Given the description of an element on the screen output the (x, y) to click on. 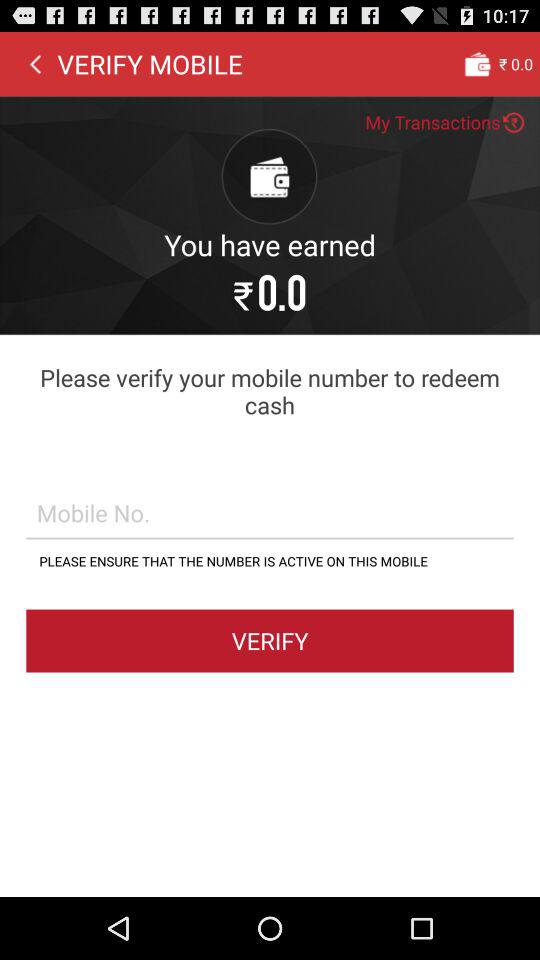
choose item above the please verify your (35, 63)
